Given the description of an element on the screen output the (x, y) to click on. 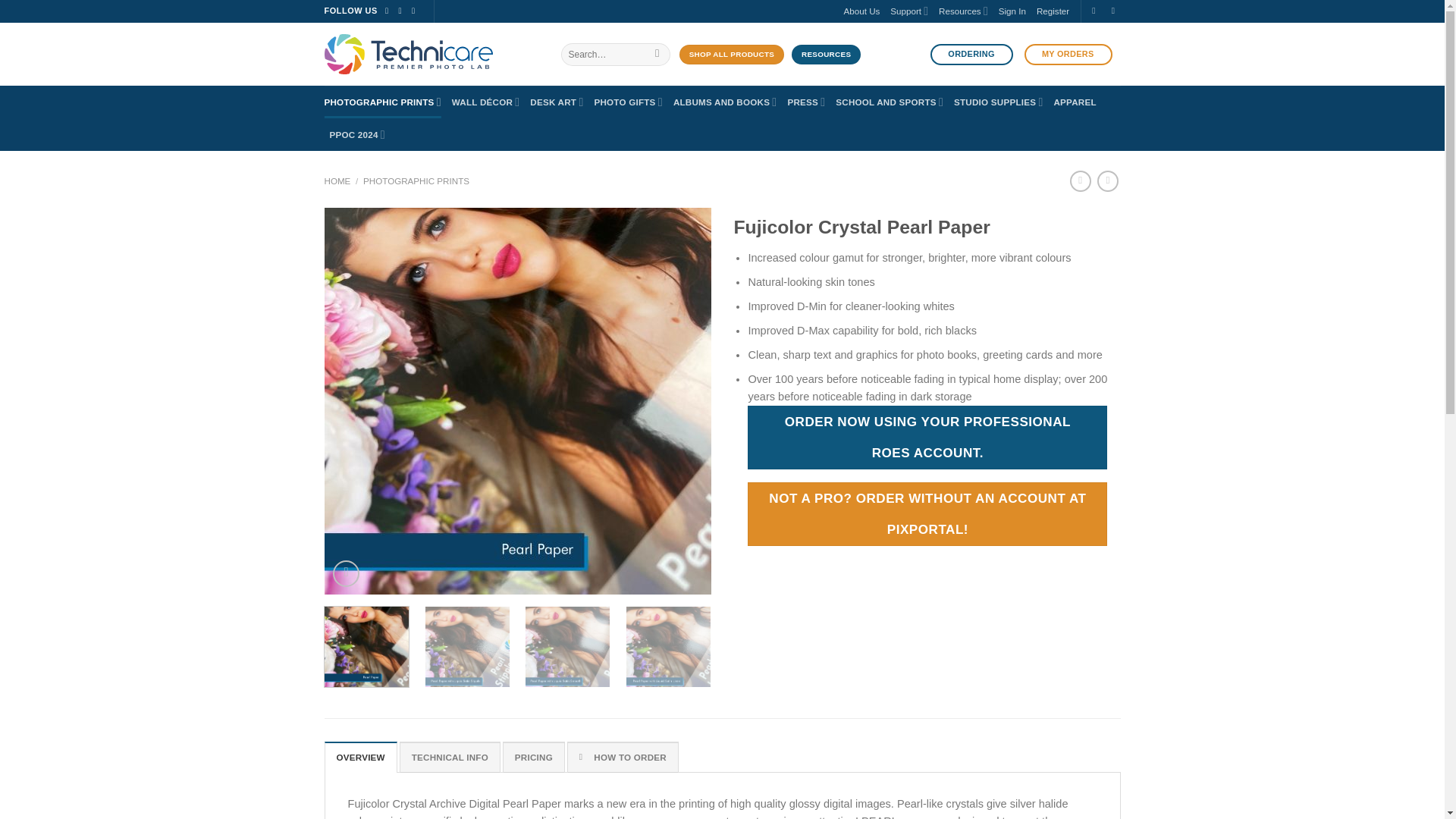
Register (1052, 11)
Search (657, 54)
Resources (963, 11)
Support (908, 11)
SHOP ALL PRODUCTS (731, 54)
RESOURCES (826, 54)
Follow on Instagram (402, 10)
ORDERING (971, 54)
PHOTOGRAPHIC PRINTS (382, 101)
Follow on Facebook (389, 10)
